Given the description of an element on the screen output the (x, y) to click on. 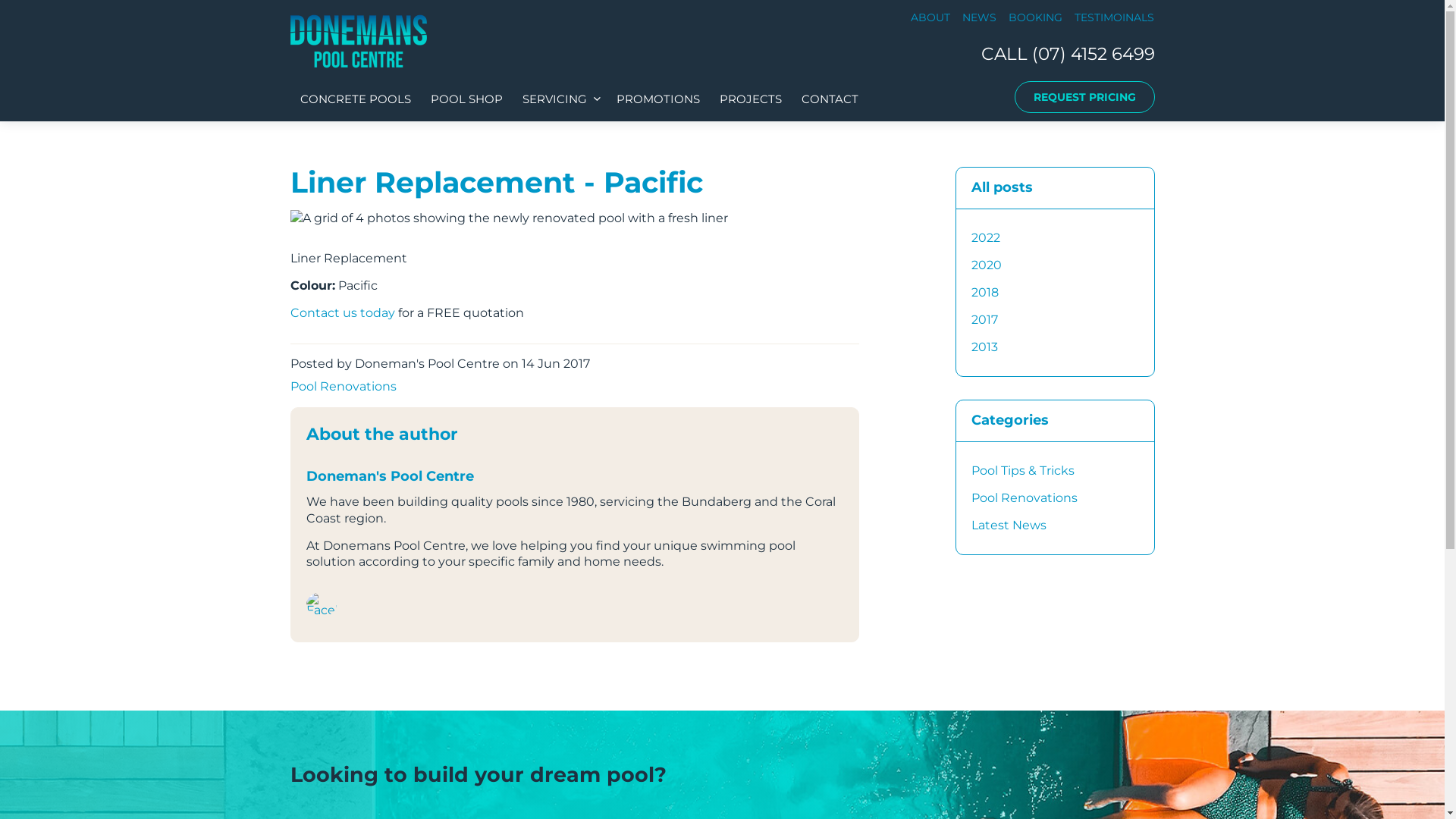
PROMOTIONS Element type: text (657, 98)
2022 Element type: text (1055, 237)
2013 Element type: text (1055, 346)
CALL (07) 4152 6499 Element type: text (1067, 53)
NEWS Element type: text (978, 17)
Skip to the content Element type: text (721, 13)
Latest News Element type: text (1055, 525)
Pool Renovations Element type: text (342, 386)
Pool Tips & Tricks Element type: text (1055, 470)
REQUEST PRICING Element type: text (1084, 96)
2018 Element type: text (1055, 292)
PROJECTS Element type: text (750, 98)
POOL SHOP Element type: text (465, 98)
ABOUT Element type: text (929, 17)
SERVICING Element type: text (559, 98)
Pool Renovations Element type: text (1055, 497)
2020 Element type: text (1055, 265)
CONTACT Element type: text (829, 98)
TESTIMOINALS Element type: text (1113, 17)
Contact us today Element type: text (341, 312)
Doneman's Pool Centre Element type: text (357, 40)
All posts Element type: text (1055, 187)
BOOKING Element type: text (1035, 17)
CONCRETE POOLS Element type: text (354, 98)
2017 Element type: text (1055, 319)
